Given the description of an element on the screen output the (x, y) to click on. 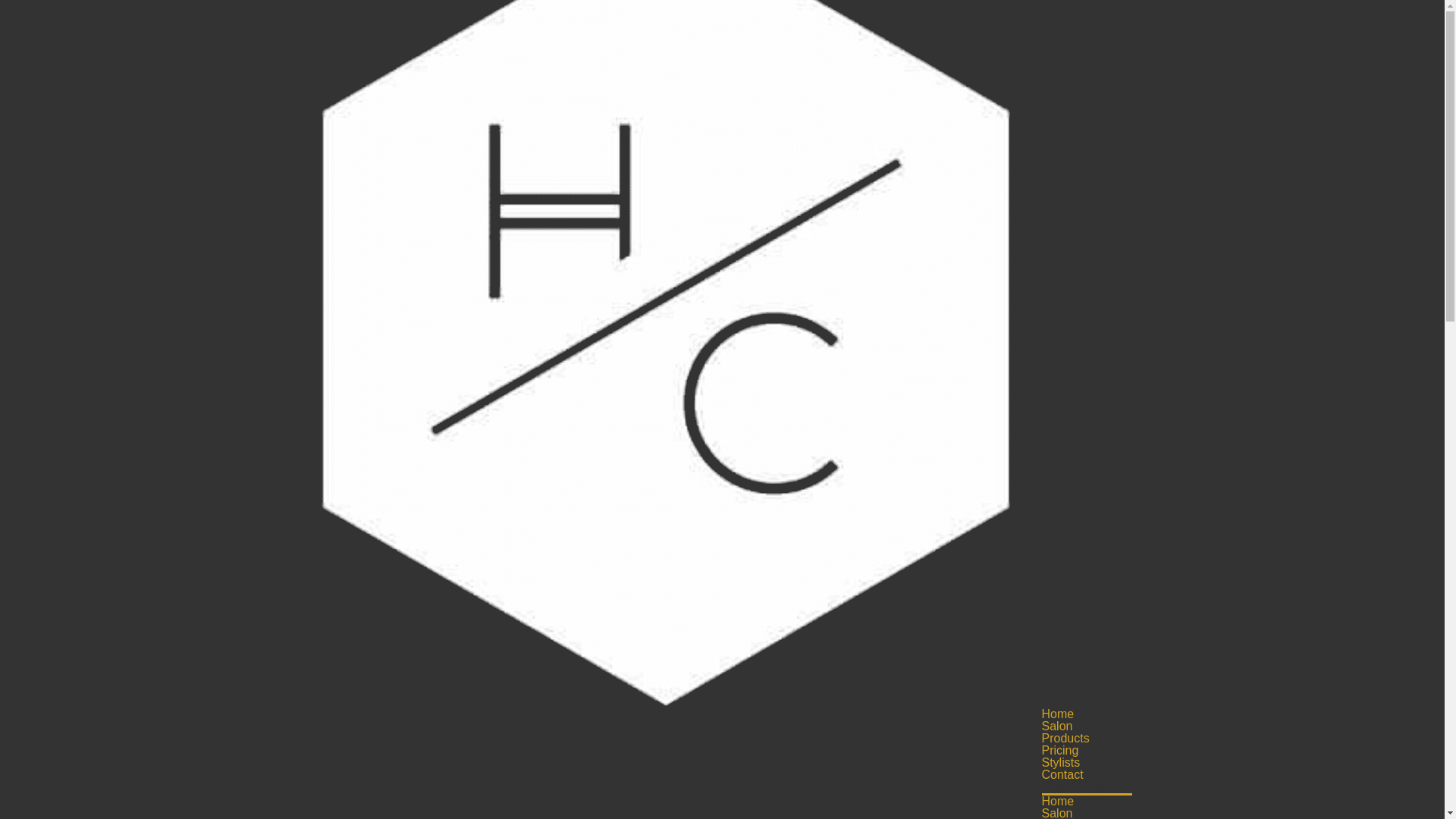
Salon Element type: text (1057, 726)
Home Element type: text (1057, 801)
Contact Element type: text (1062, 774)
Stylists Element type: text (1060, 762)
Home Element type: text (1057, 714)
Products Element type: text (1065, 738)
Pricing Element type: text (1060, 750)
